Given the description of an element on the screen output the (x, y) to click on. 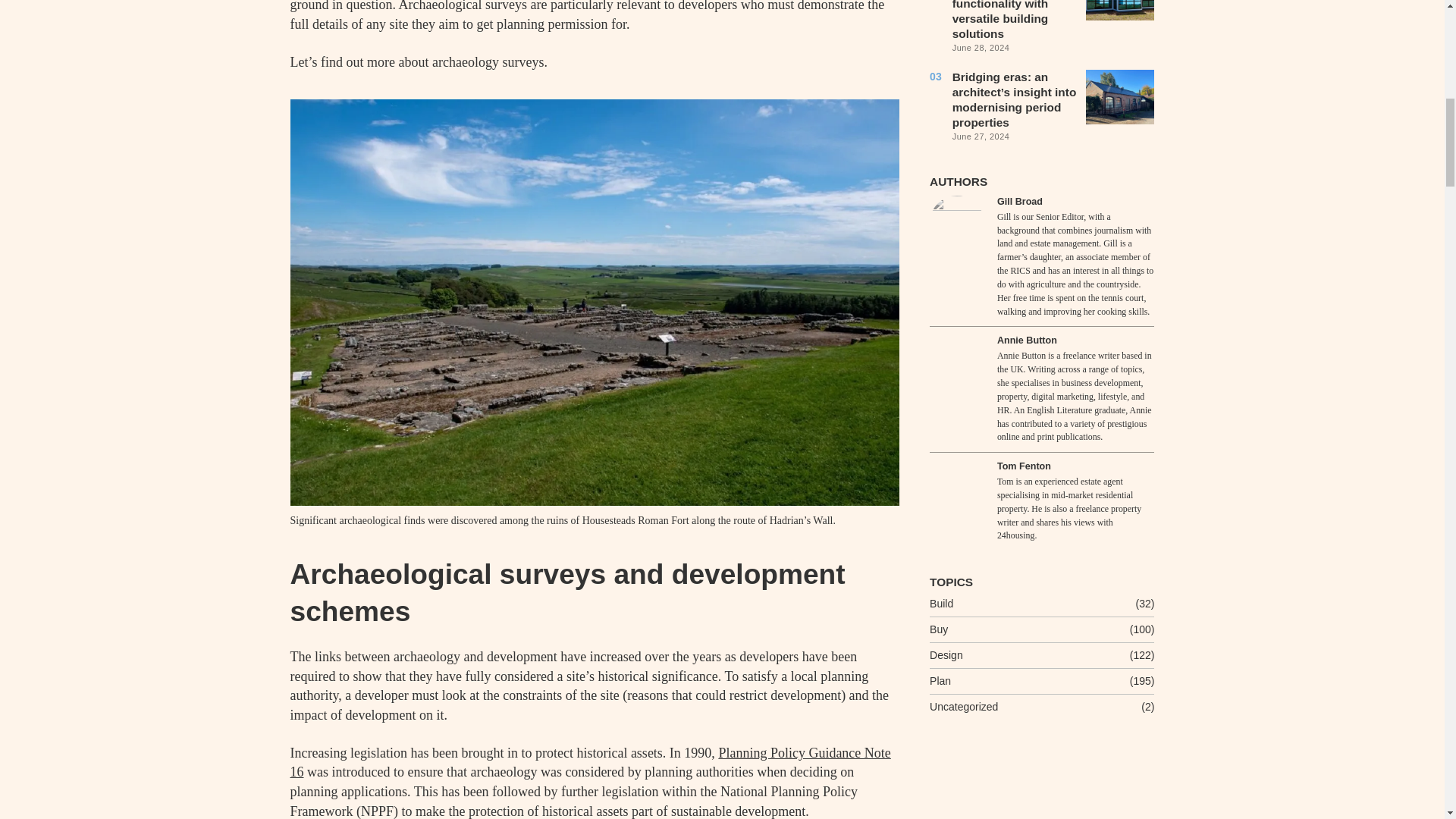
Buy (938, 629)
Planning Policy Guidance Note 16 (589, 762)
Gill Broad (957, 222)
Gill Broad (1019, 201)
Annie Button (957, 361)
Tom Fenton (957, 487)
Design (946, 654)
Annie Button (1027, 339)
Tom Fenton (1024, 466)
Build (941, 603)
